Given the description of an element on the screen output the (x, y) to click on. 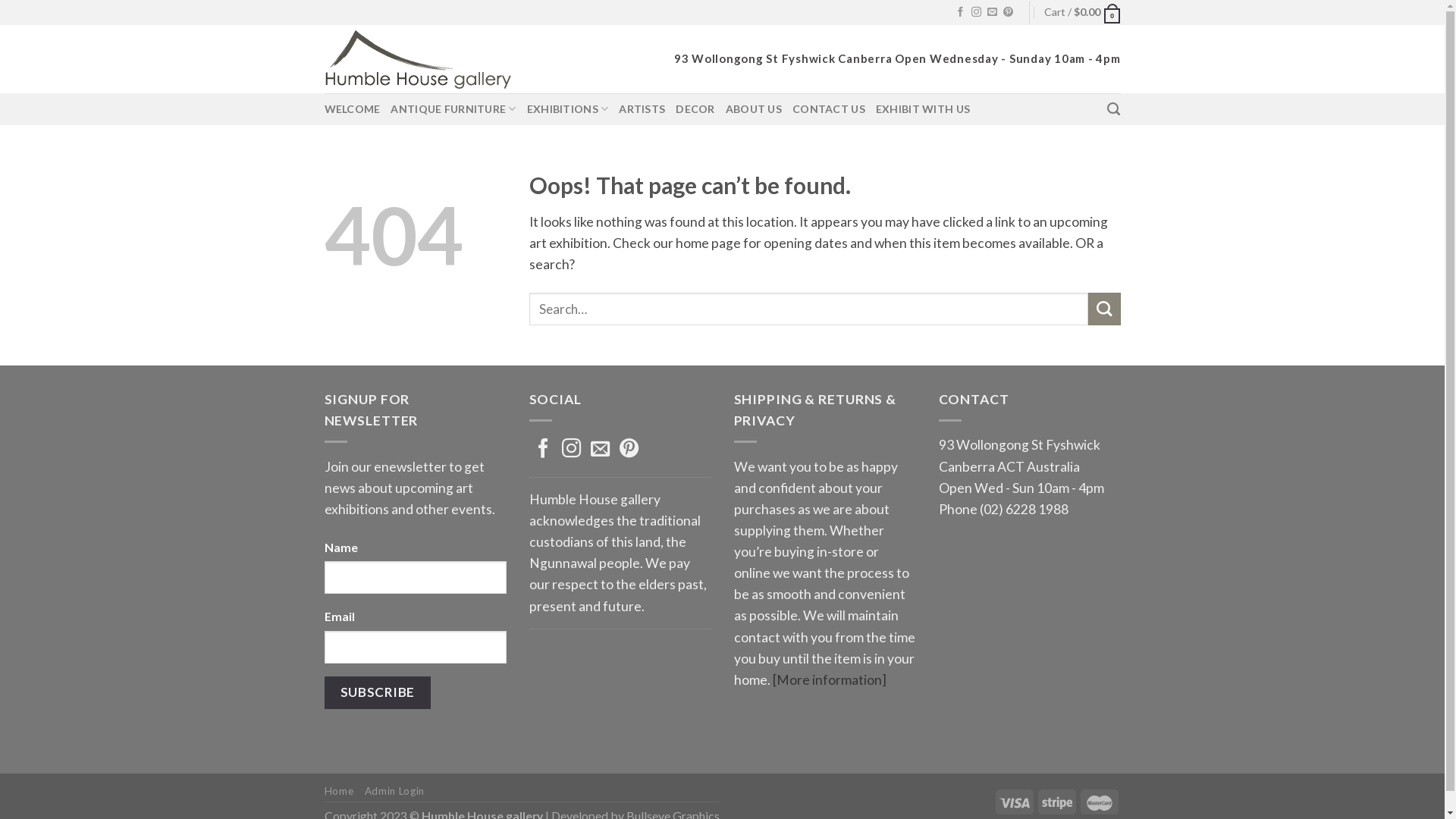
Follow on Pinterest Element type: hover (1008, 12)
SUBSCRIBE Element type: text (377, 692)
WELCOME Element type: text (352, 109)
Cart / $0.00
0 Element type: text (1082, 12)
EXHIBITIONS Element type: text (567, 109)
Admin Login Element type: text (394, 790)
ABOUT US Element type: text (753, 109)
CONTACT US Element type: text (828, 109)
Follow on Facebook Element type: hover (960, 12)
ANTIQUE FURNITURE Element type: text (452, 109)
[More information] Element type: text (828, 679)
EXHIBIT WITH US Element type: text (922, 109)
Home Element type: text (339, 790)
Follow on Instagram Element type: hover (976, 12)
ARTISTS Element type: text (641, 109)
DECOR Element type: text (694, 109)
Send us an email Element type: hover (992, 12)
